Given the description of an element on the screen output the (x, y) to click on. 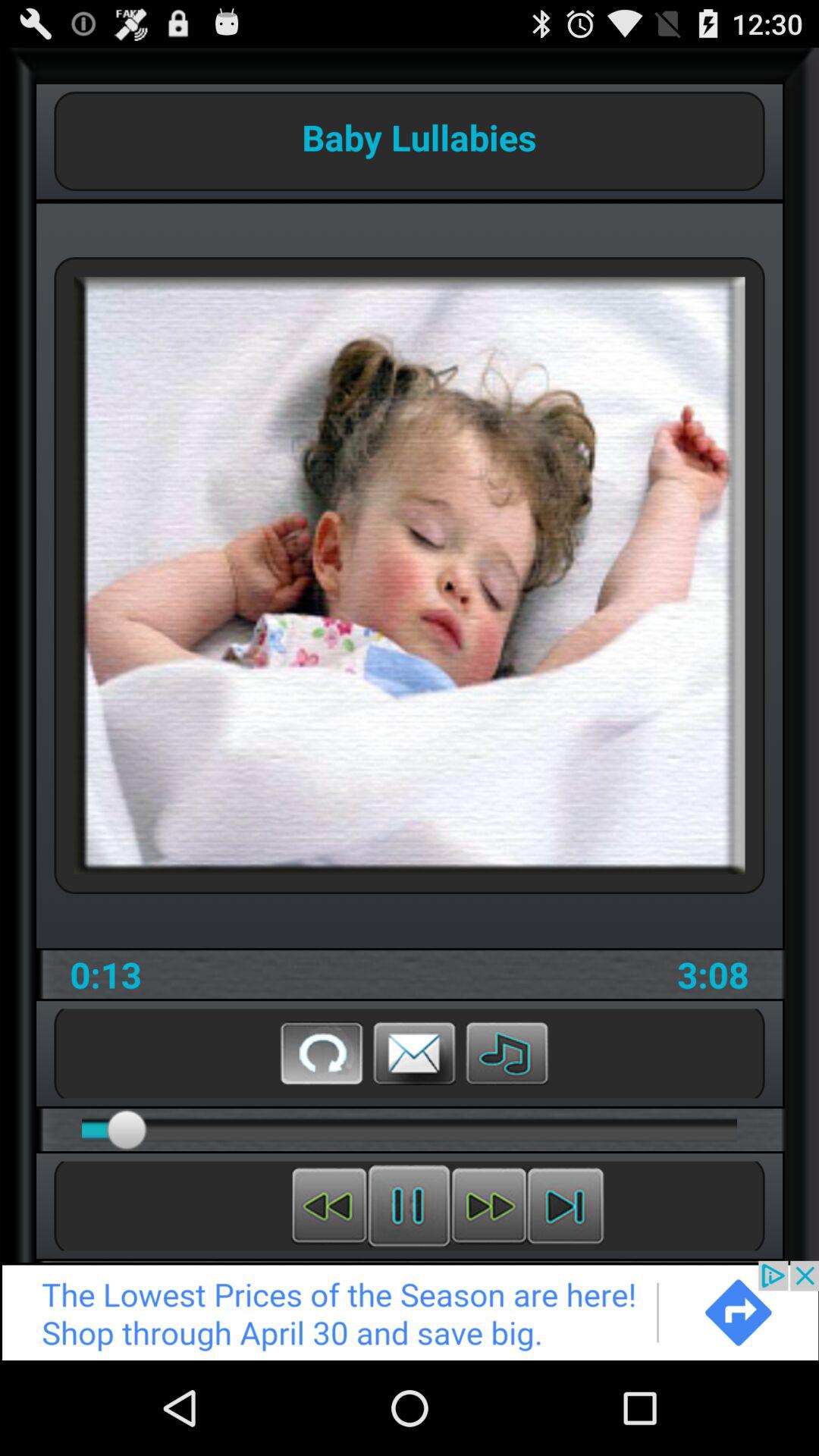
share through email (414, 1053)
